Given the description of an element on the screen output the (x, y) to click on. 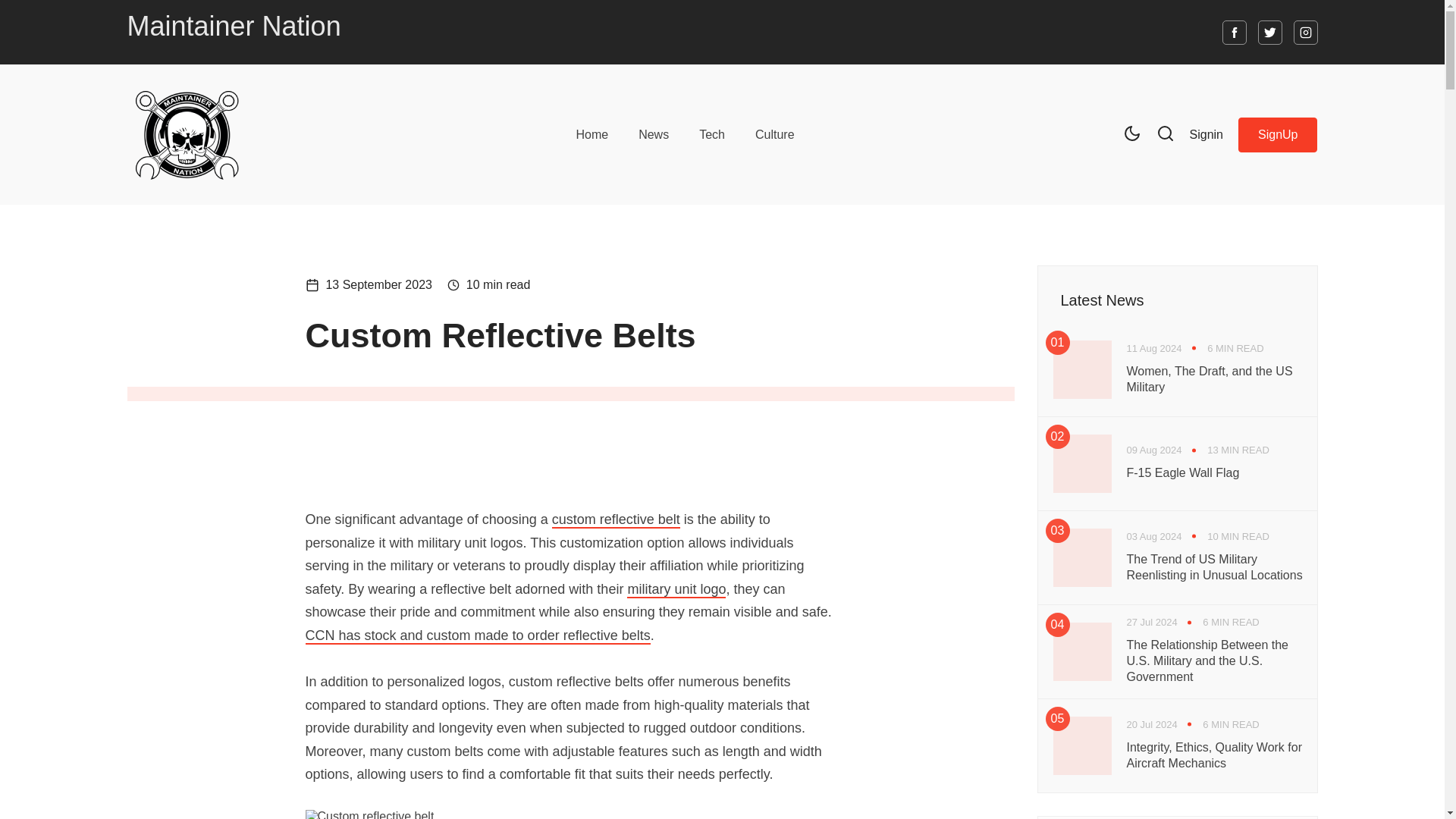
custom reflective belt (615, 519)
military unit logo (676, 589)
Culture (774, 133)
CCN has stock and custom made to order reflective belts (476, 636)
Home (591, 133)
Tech (711, 133)
News (653, 133)
Signin (1206, 133)
SignUp (1278, 134)
